Given the description of an element on the screen output the (x, y) to click on. 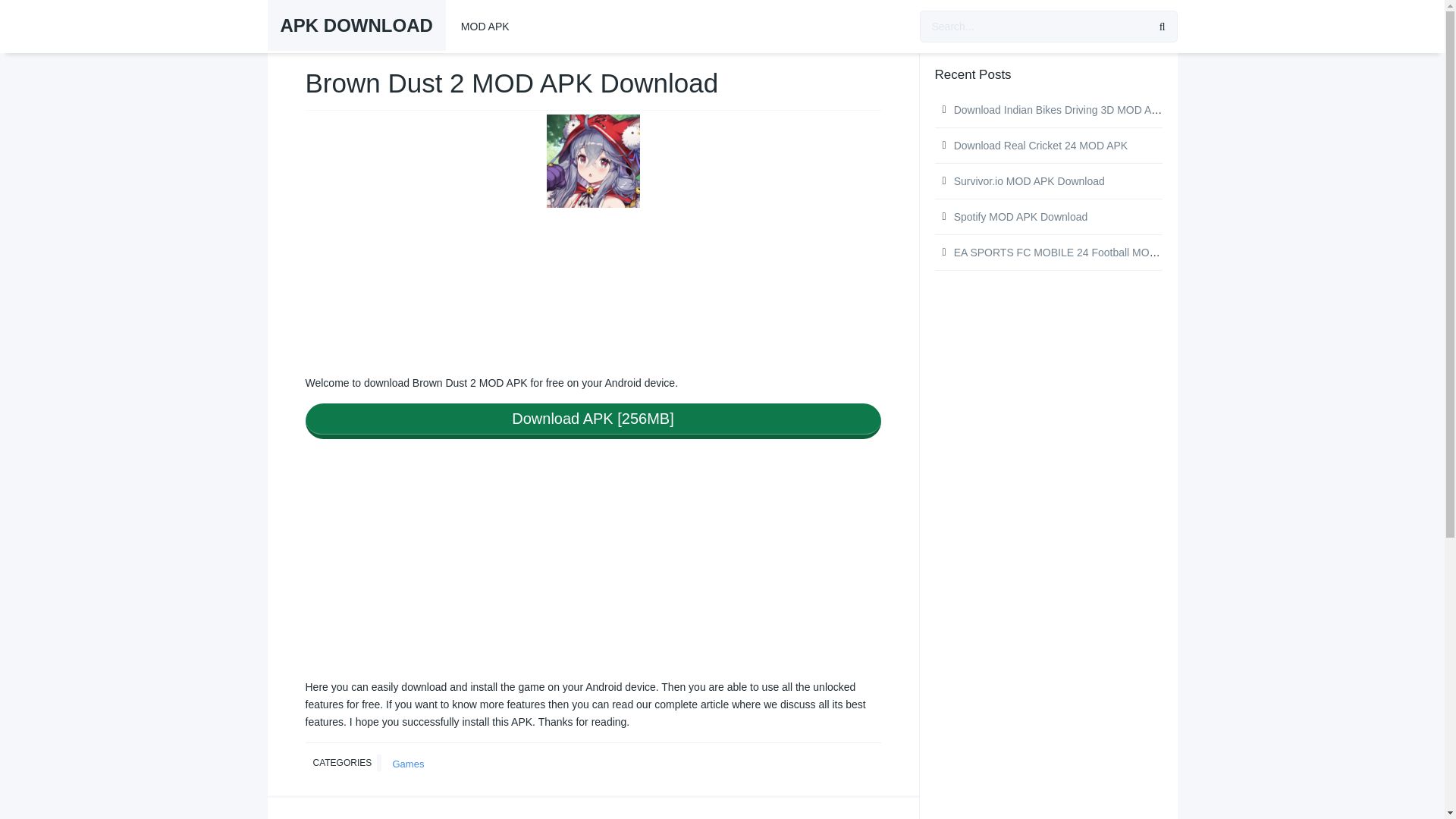
Download Real Cricket 24 MOD APK (1040, 145)
Survivor.io MOD APK Download (1029, 181)
Games (408, 763)
Download Indian Bikes Driving 3D MOD APK (1059, 110)
EA SPORTS FC MOBILE 24 Football MOD APK (1066, 252)
APK DOWNLOAD (356, 25)
Spotify MOD APK Download (1020, 216)
Advertisement (592, 566)
MOD APK (484, 26)
Advertisement (592, 291)
